Given the description of an element on the screen output the (x, y) to click on. 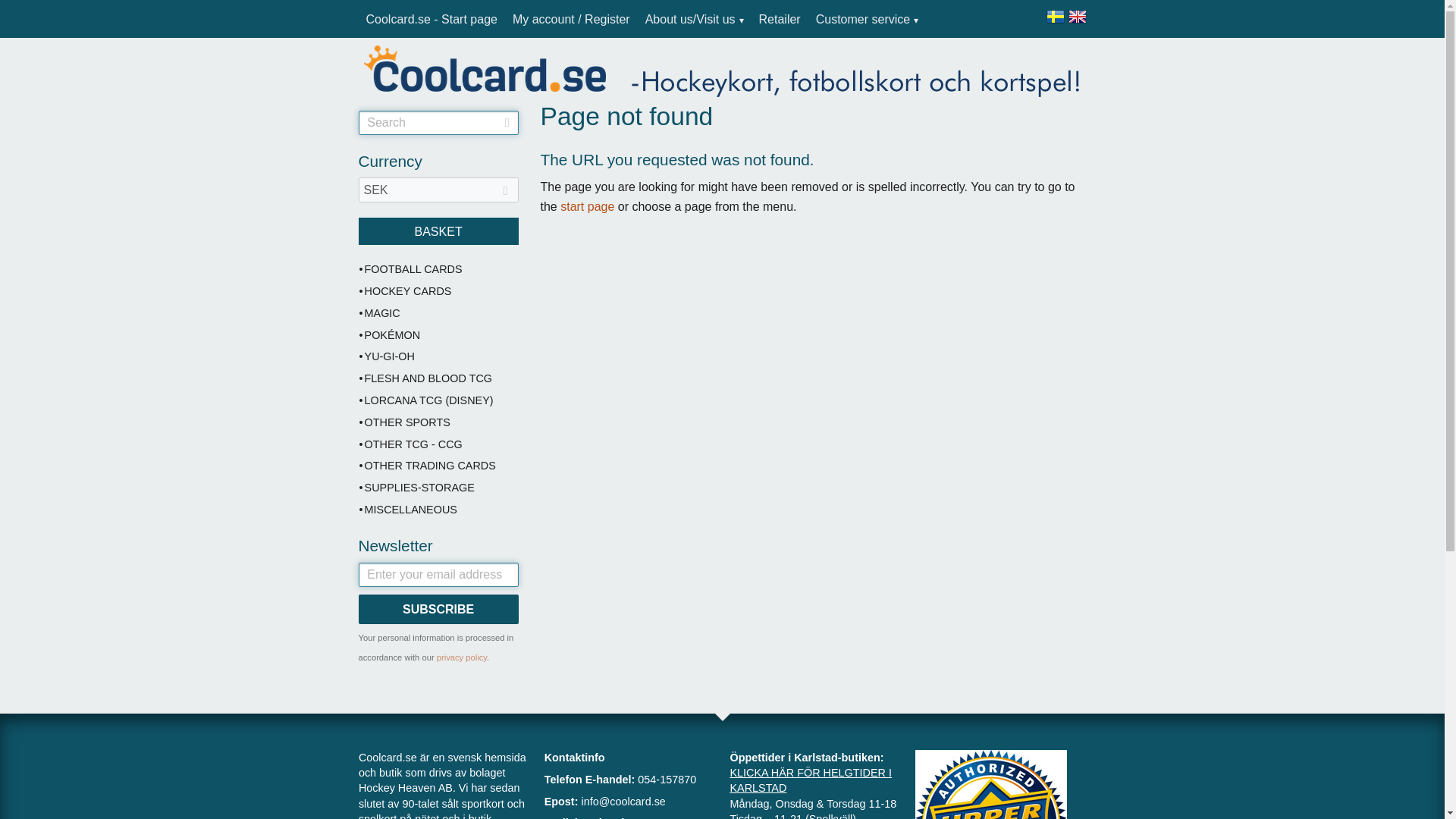
OTHER SPORTS (438, 423)
BASKET (438, 230)
FLESH AND BLOOD TCG (438, 379)
Customer service (866, 20)
Coolcard.se - Start page (430, 19)
Coolcard.se - Start page (430, 19)
Customer service (866, 20)
Retailer (779, 19)
start page (587, 205)
FOOTBALL CARDS (438, 270)
Retailer (779, 19)
MAGIC (438, 313)
HOCKEY CARDS (438, 291)
YU-GI-OH (438, 356)
